Given the description of an element on the screen output the (x, y) to click on. 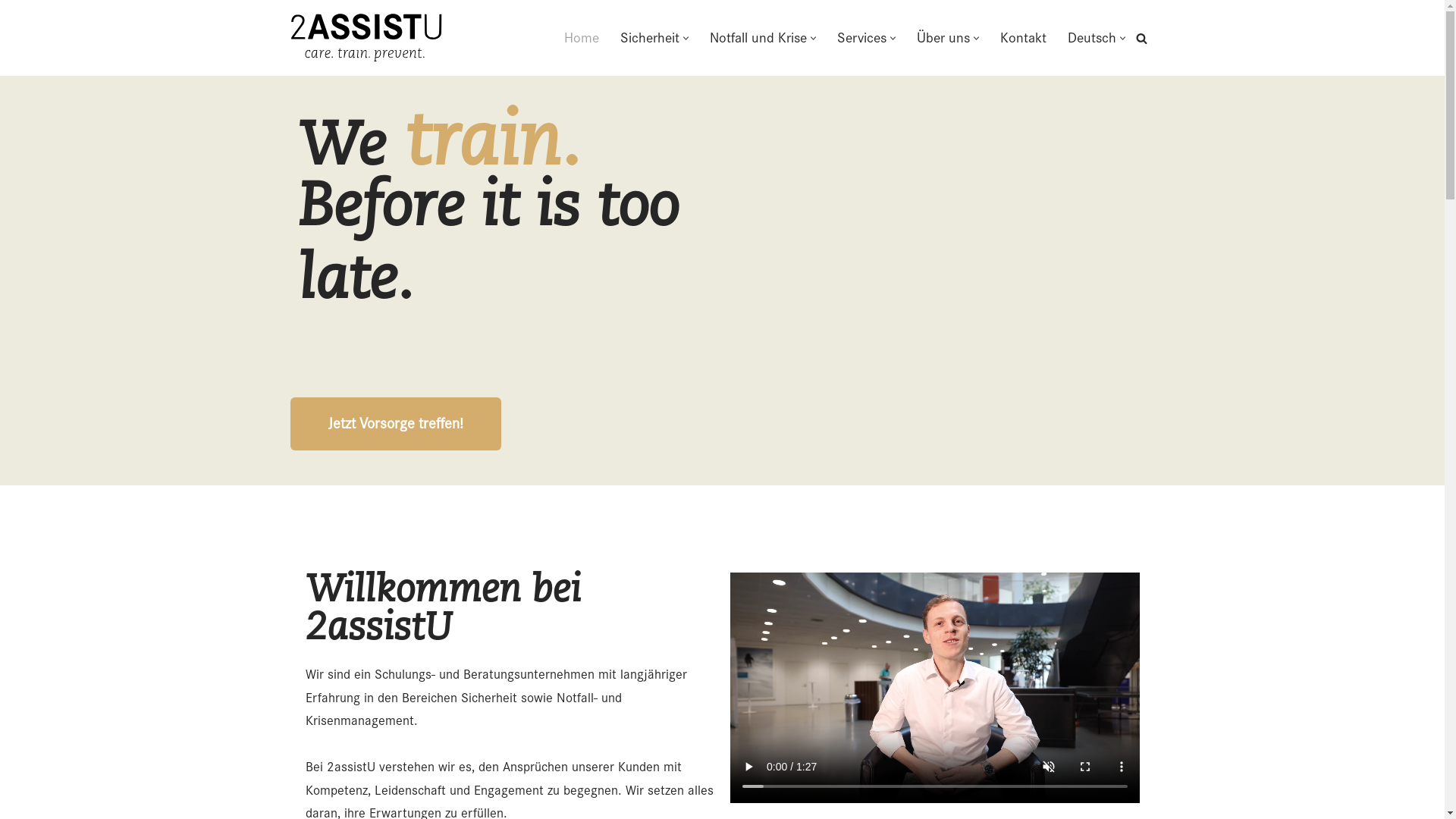
Kontakt Element type: text (1022, 37)
Home Element type: text (581, 37)
Zum Inhalt springen Element type: text (11, 31)
Sicherheit Element type: text (649, 37)
Services Element type: text (861, 37)
Notfall und Krise Element type: text (757, 37)
Jetzt Vorsorge treffen! Element type: text (394, 423)
Deutsch Element type: text (1091, 37)
